Given the description of an element on the screen output the (x, y) to click on. 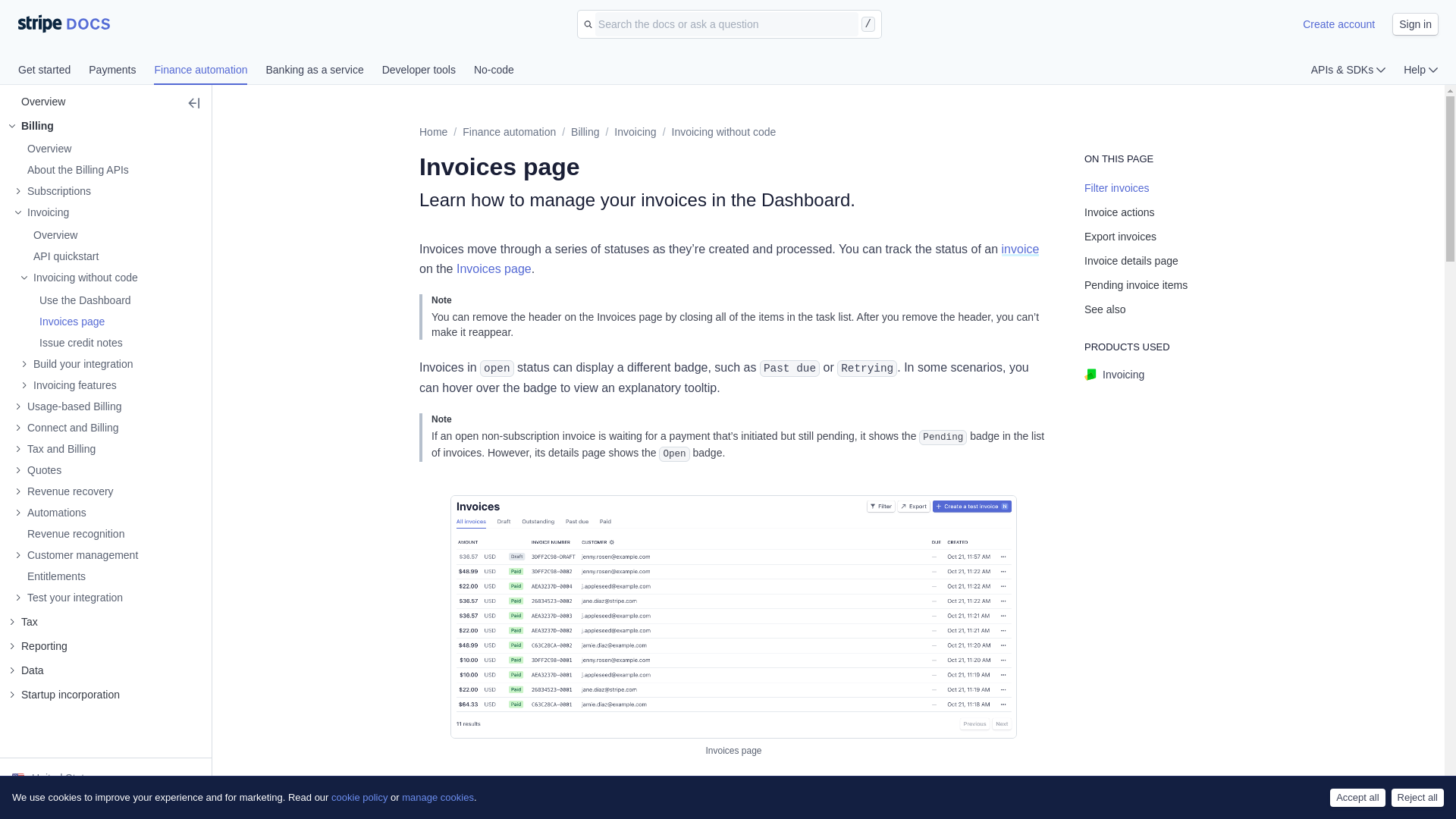
Create and manage invoices for one-time payments (76, 212)
Turn your idea into a startup (63, 694)
Overview (49, 234)
No-code (493, 71)
Finance automation (210, 71)
Developer tools (427, 71)
Adjust or refund finalized invoices (74, 342)
Issue credit notes (74, 342)
Build your integration (77, 363)
